Given the description of an element on the screen output the (x, y) to click on. 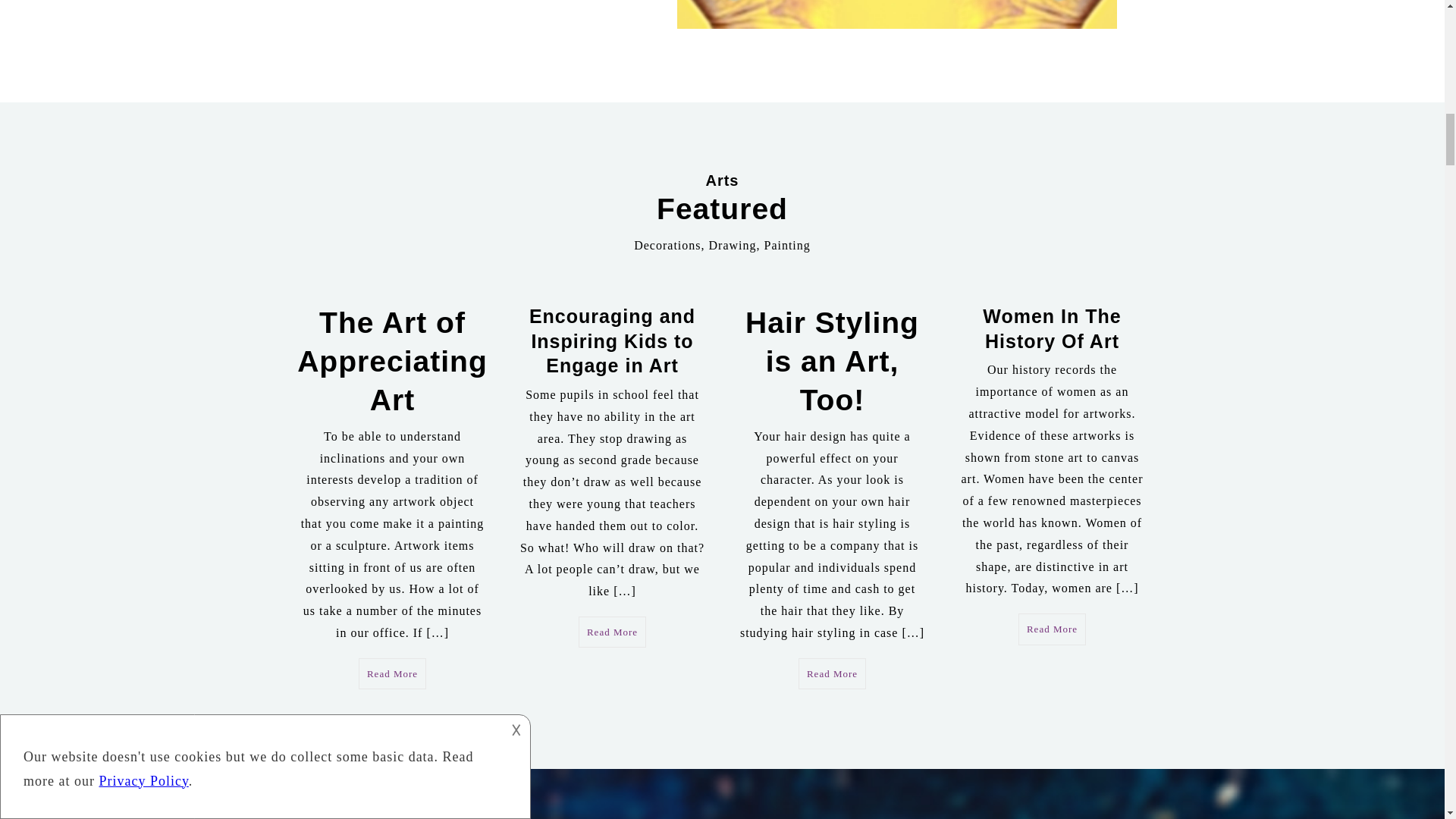
Read More (612, 632)
Read More (831, 674)
Read More (392, 674)
Read More (1051, 629)
